Given the description of an element on the screen output the (x, y) to click on. 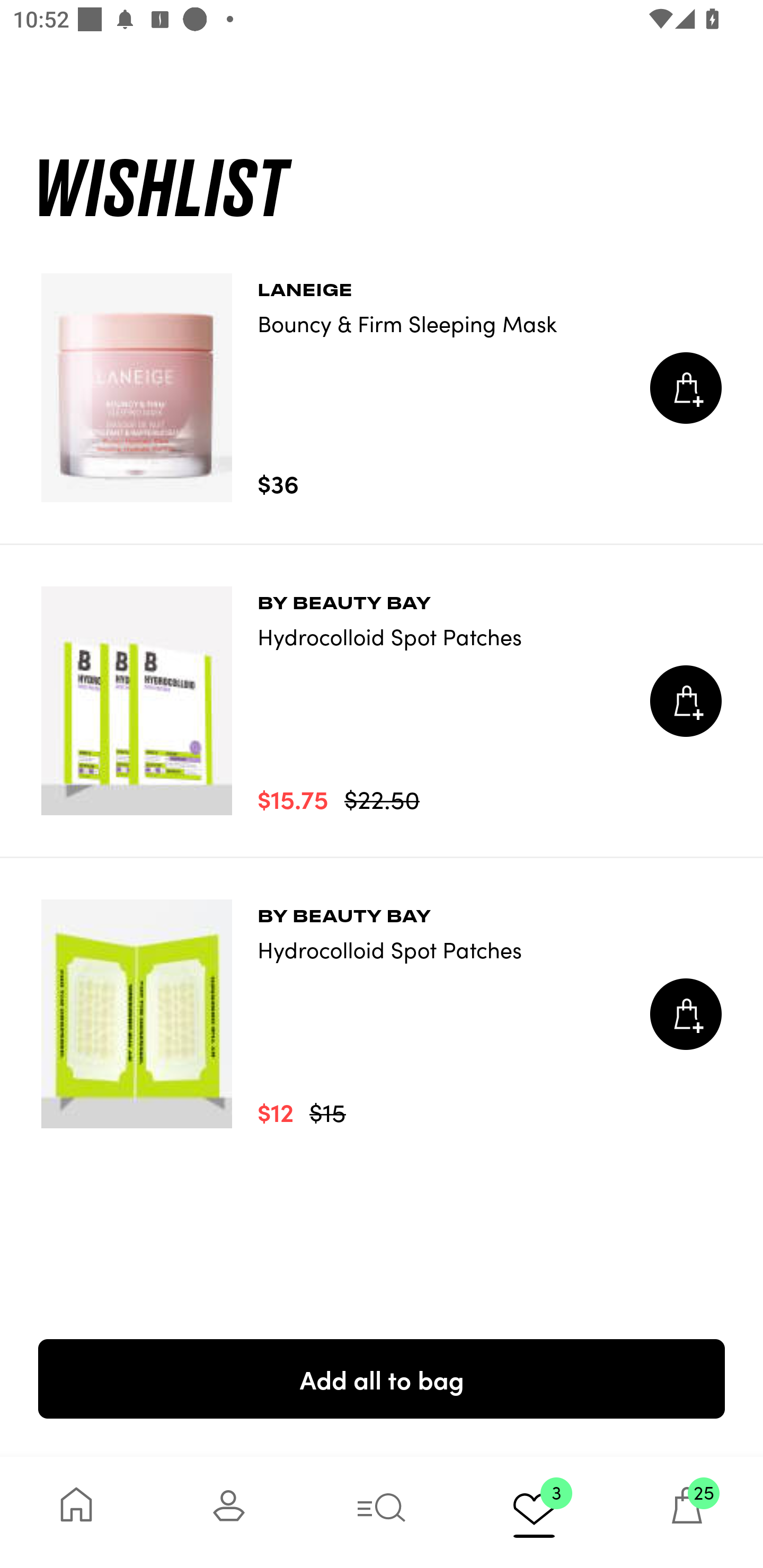
LANEIGE Bouncy & Firm Sleeping Mask $36 (381, 388)
BY BEAUTY BAY Hydrocolloid Spot Patches $12 $15 (381, 1013)
Add all to bag (381, 1379)
3 (533, 1512)
25 (686, 1512)
